Given the description of an element on the screen output the (x, y) to click on. 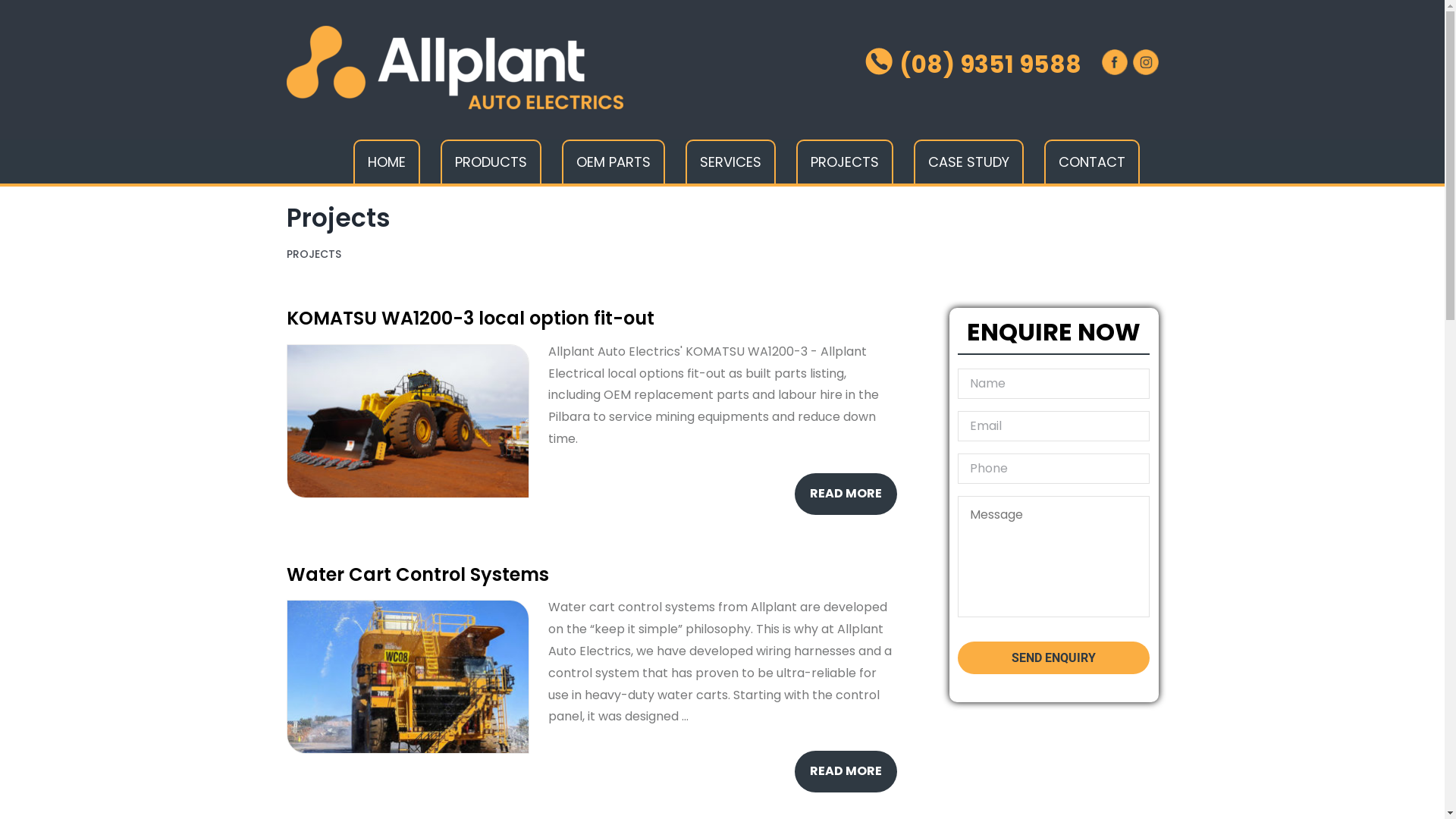
READ MORE Element type: text (845, 493)
PROJECTS Element type: text (844, 161)
(08) 9351 9588 Element type: text (972, 64)
Water Cart Control Systems Element type: text (417, 573)
CASE STUDY Element type: text (967, 161)
OEM PARTS Element type: text (612, 161)
CONTACT Element type: text (1091, 161)
READ MORE Element type: text (845, 771)
HOME Element type: text (386, 161)
PRODUCTS Element type: text (489, 161)
SERVICES Element type: text (730, 161)
Send Enquiry Element type: text (1053, 657)
KOMATSU WA1200-3 local option fit-out Element type: text (470, 317)
